Given the description of an element on the screen output the (x, y) to click on. 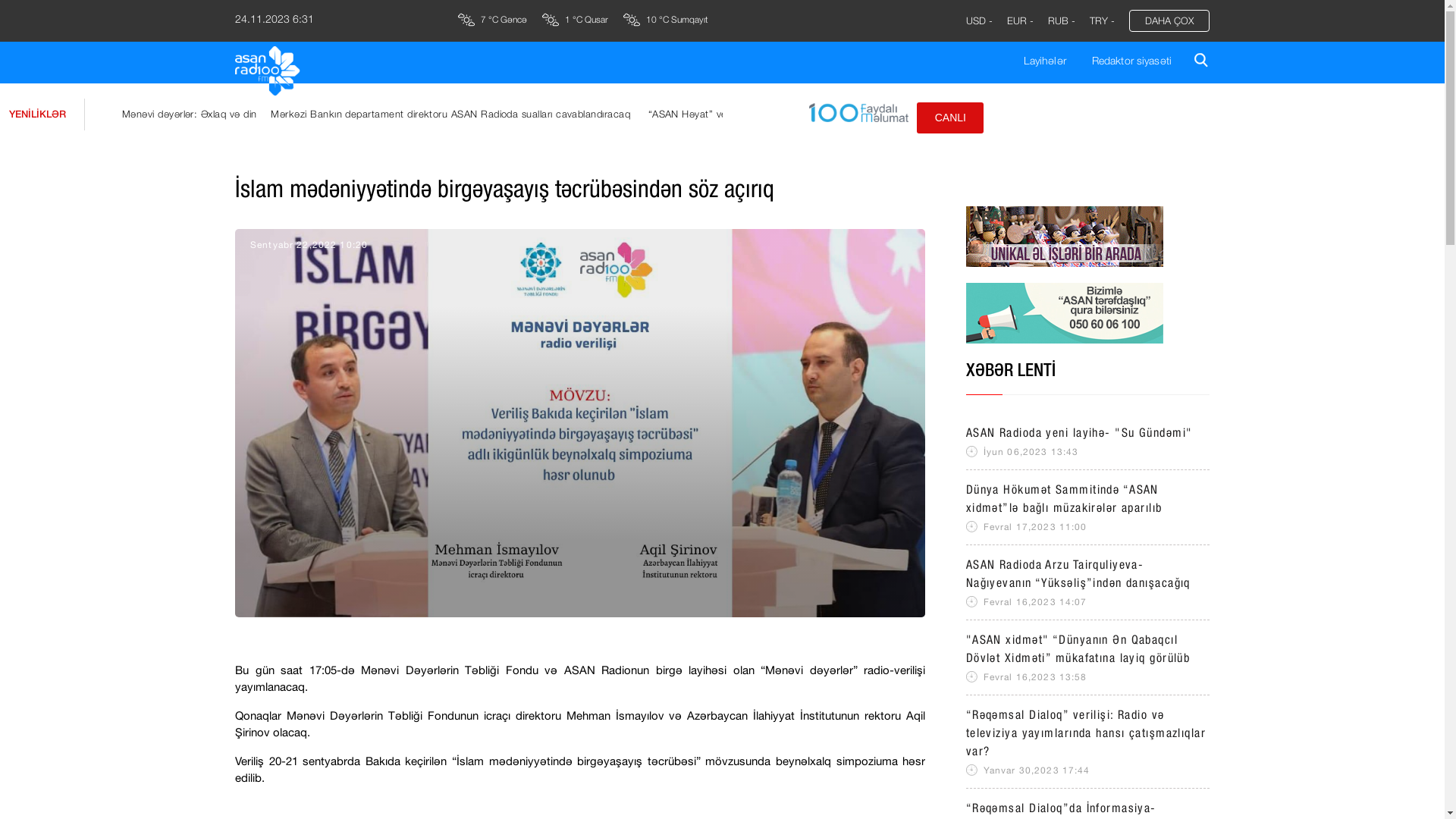
CANLI Element type: text (949, 117)
